Given the description of an element on the screen output the (x, y) to click on. 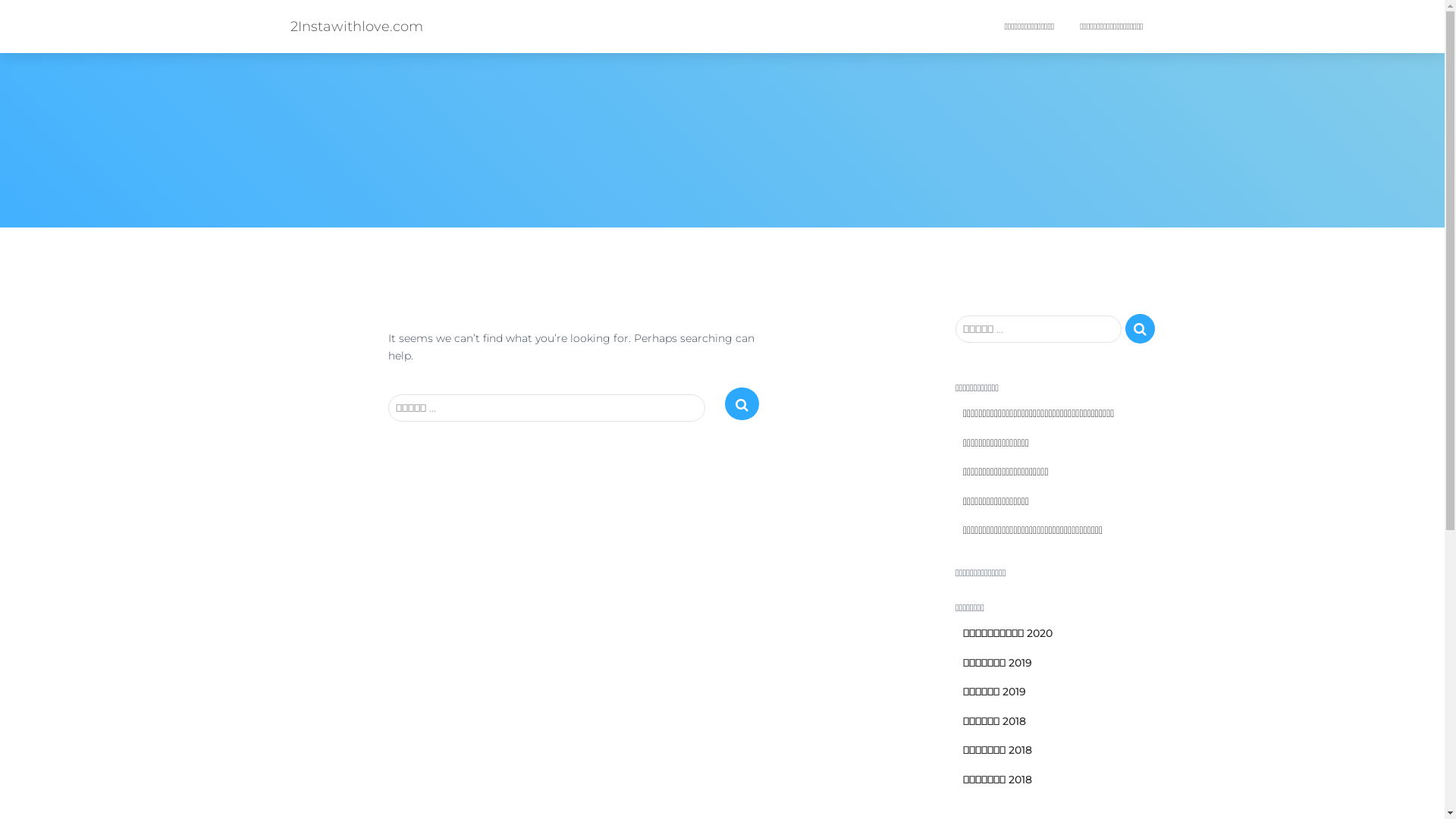
2Instawithlove.com Element type: text (355, 26)
